Given the description of an element on the screen output the (x, y) to click on. 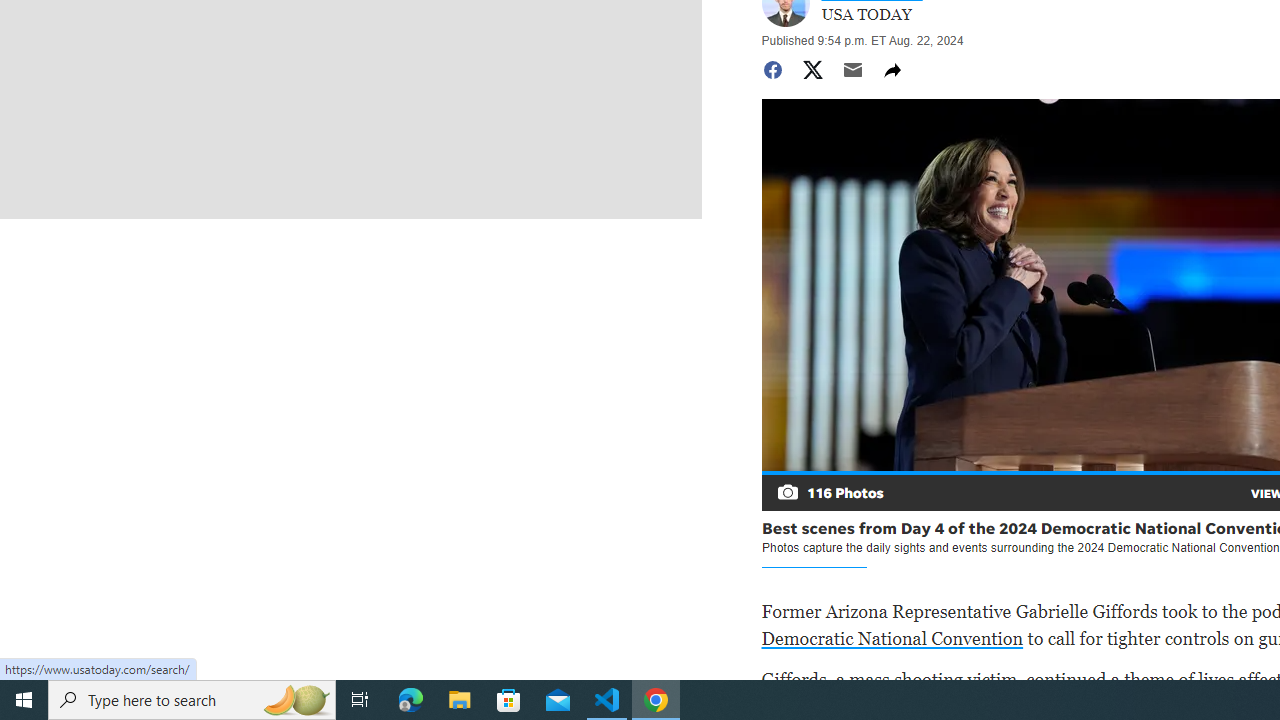
Democratic National Convention (892, 637)
Share to Facebook (772, 69)
Share natively (891, 69)
Share to Twitter (812, 69)
Share by email (852, 69)
